Given the description of an element on the screen output the (x, y) to click on. 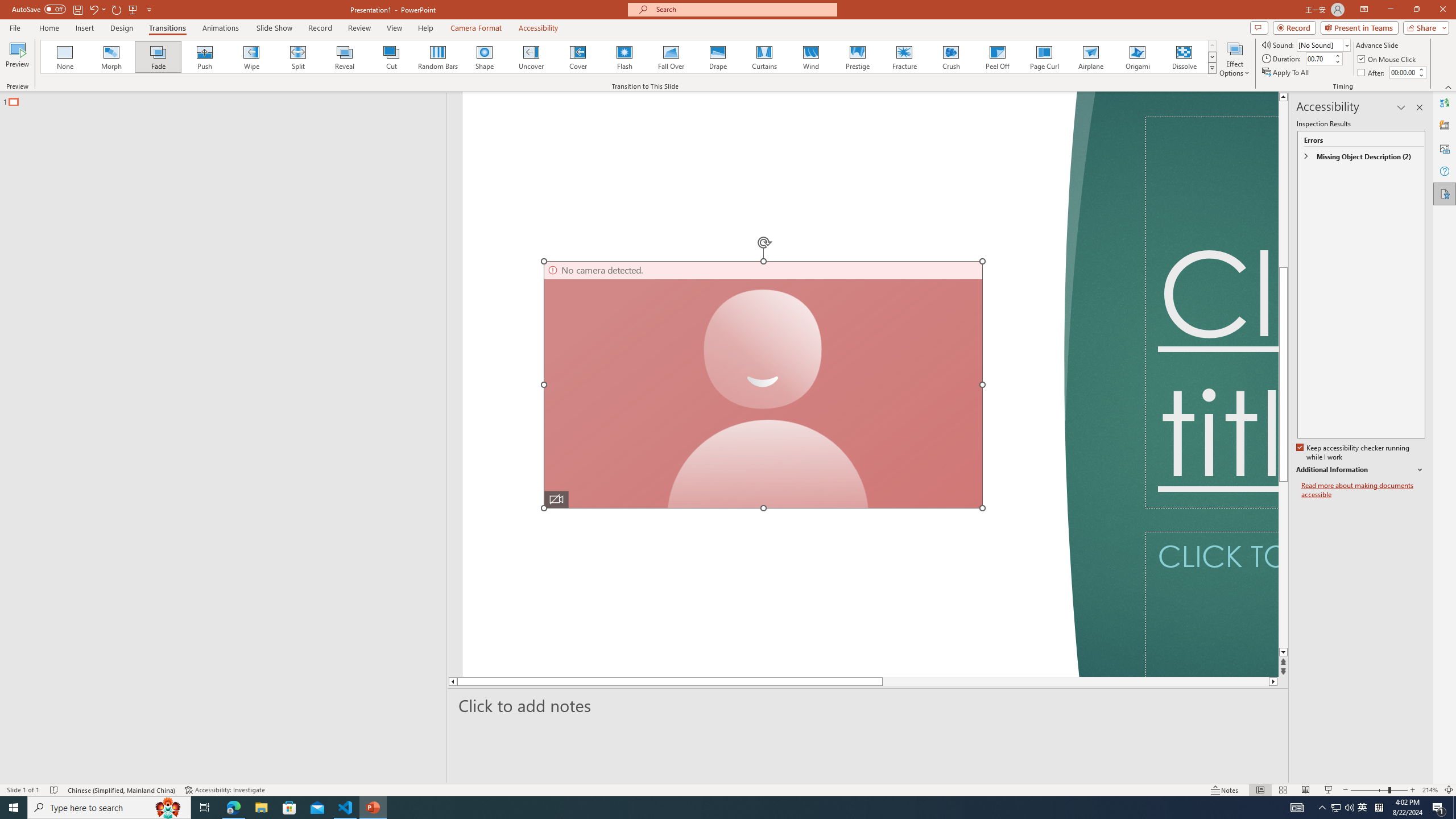
Shape (484, 56)
Rectangle (216, 437)
Page up (1283, 266)
Camera 7, No camera detected. (762, 384)
Camera Format (475, 28)
Effect Options (1234, 58)
Additional Information (1360, 469)
Cut (391, 56)
Decorative Locked (779, 383)
